Given the description of an element on the screen output the (x, y) to click on. 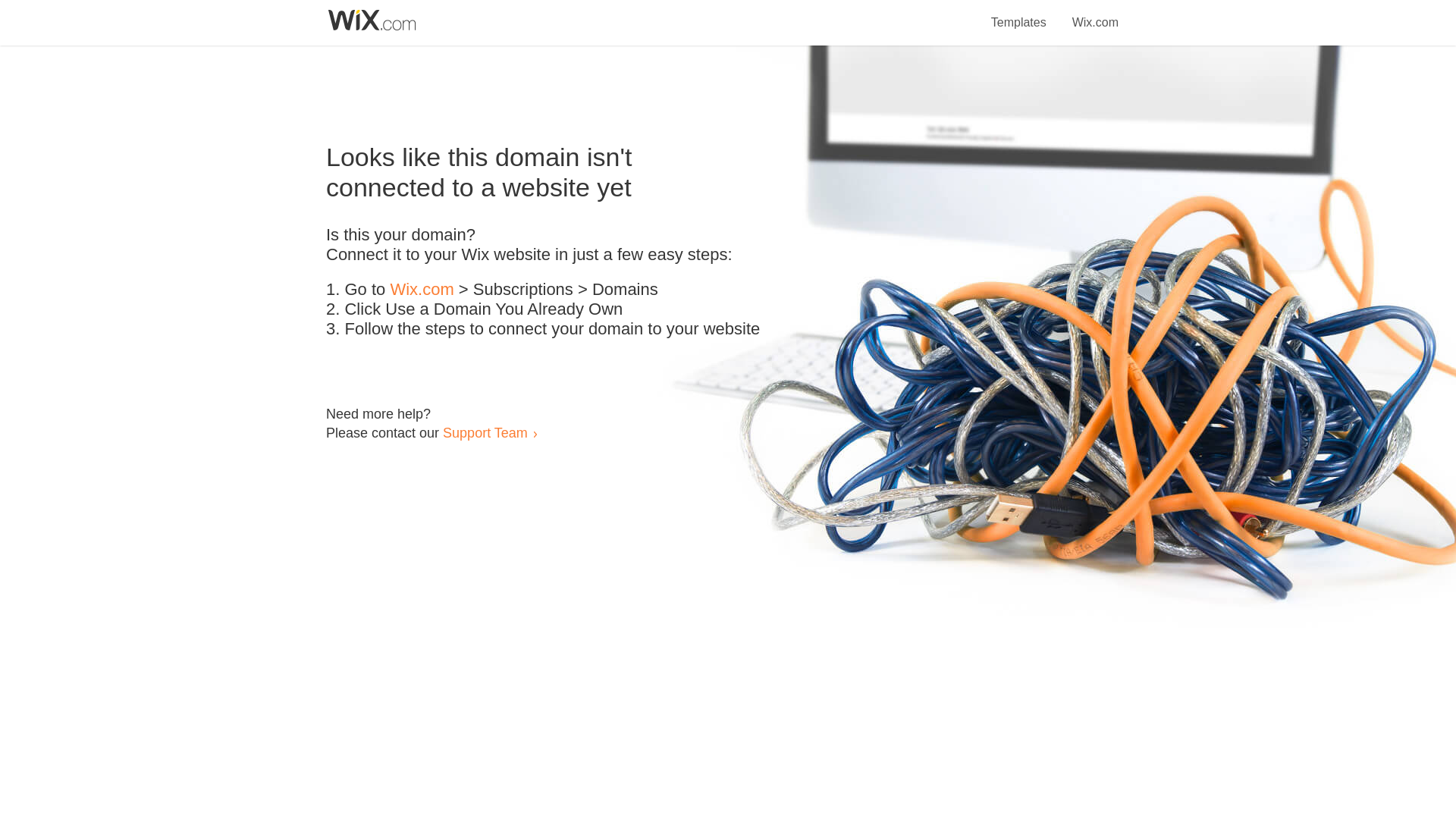
Wix.com (421, 289)
Wix.com (1095, 14)
Support Team (484, 432)
Templates (1018, 14)
